Given the description of an element on the screen output the (x, y) to click on. 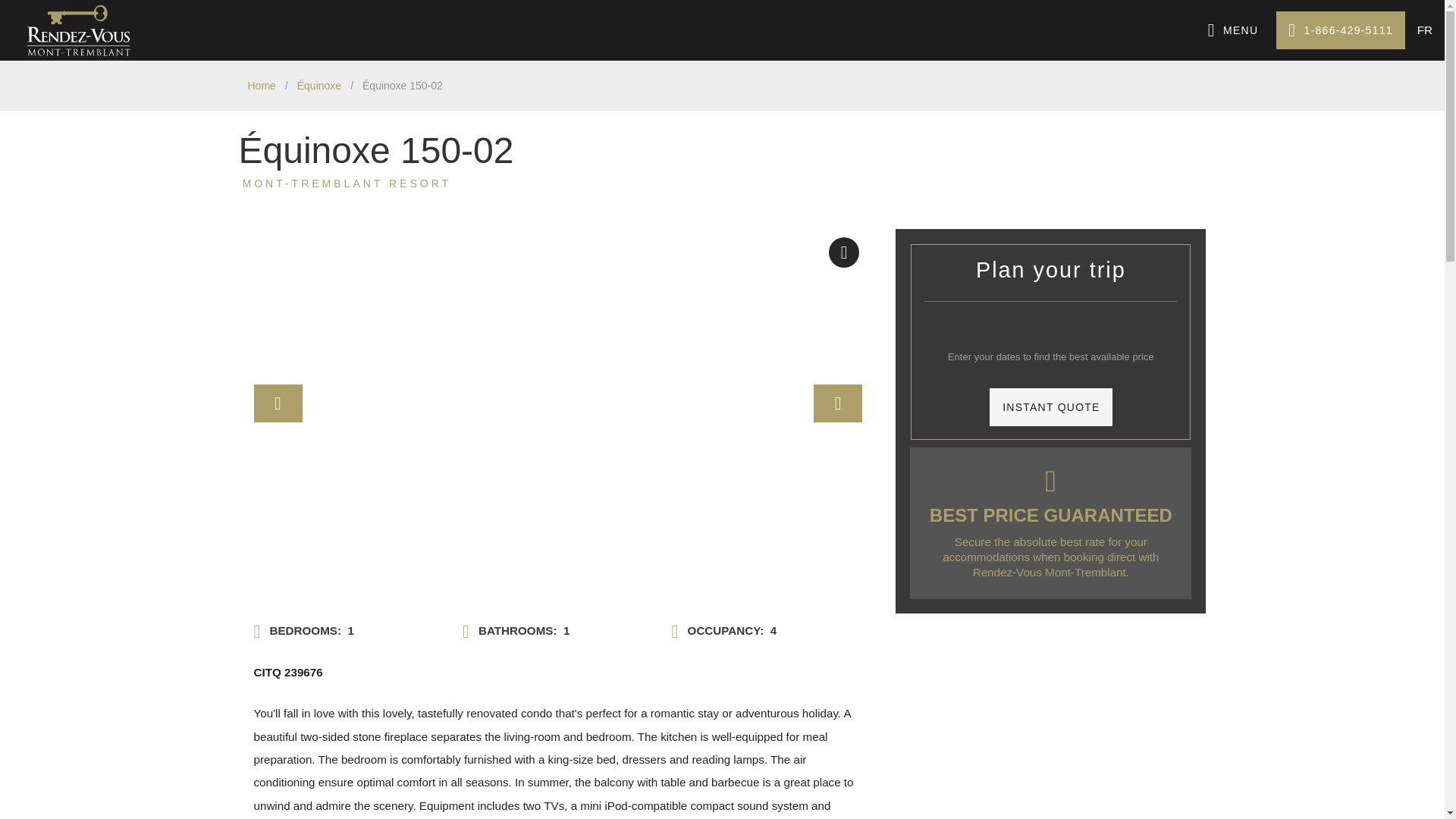
Home (261, 85)
  1-866-429-5111 (1340, 30)
  MENU (1233, 30)
